Given the description of an element on the screen output the (x, y) to click on. 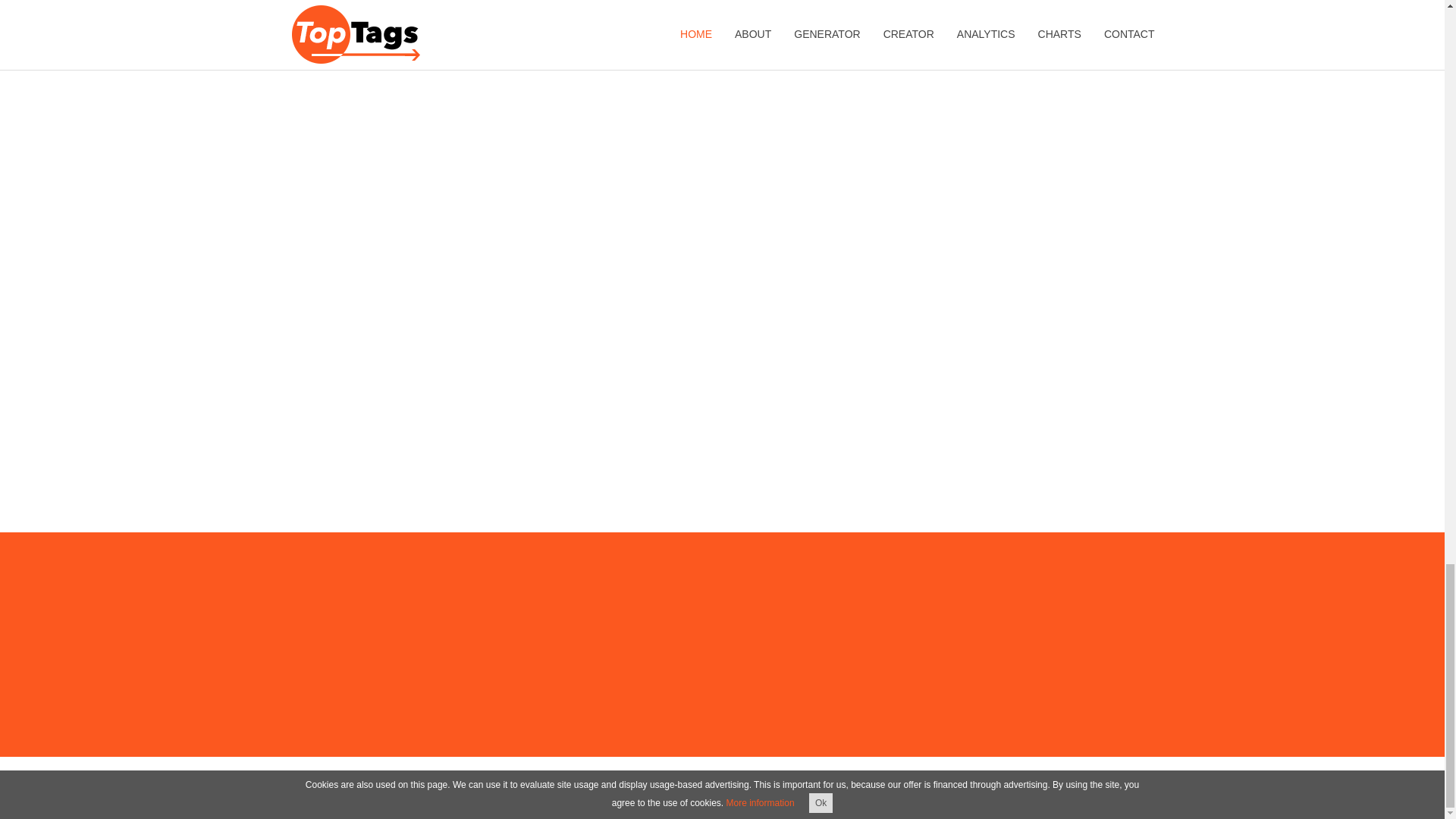
Privacy (505, 790)
top-tags.com (415, 790)
Imprint (466, 790)
